Given the description of an element on the screen output the (x, y) to click on. 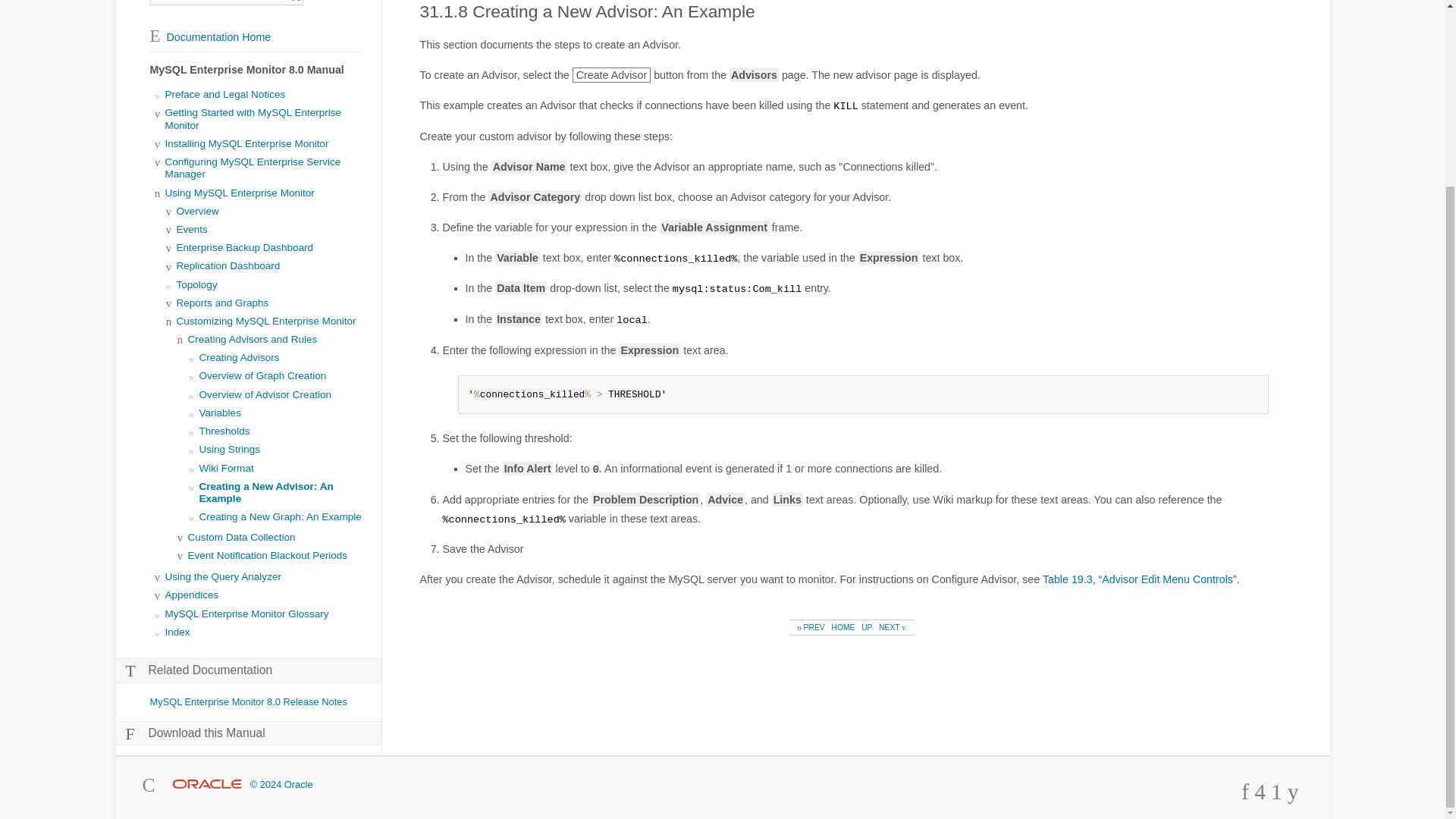
Search this Manual (217, 2)
Search (295, 2)
Installing MySQL Enterprise Monitor (247, 143)
Documentation Home (209, 37)
Getting Started with MySQL Enterprise Monitor (253, 118)
Search this Manual (217, 2)
Preface and Legal Notices (225, 93)
